Given the description of an element on the screen output the (x, y) to click on. 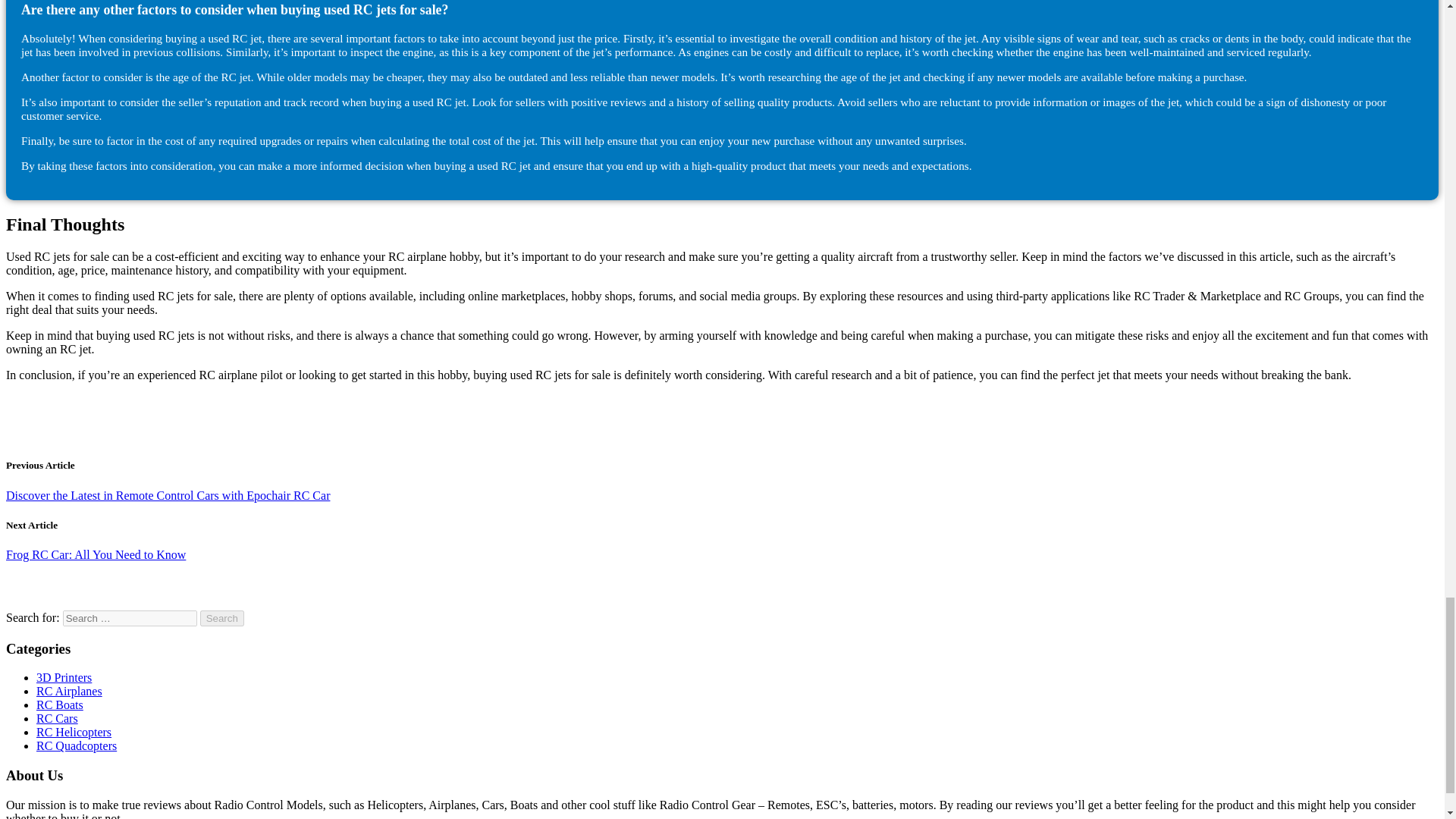
3D Printers (63, 676)
Search (222, 618)
Search (222, 618)
RC Helicopters (74, 731)
RC Boats (59, 704)
RC Quadcopters (76, 745)
RC Cars (57, 717)
RC Airplanes (68, 690)
Search (222, 618)
